Given the description of an element on the screen output the (x, y) to click on. 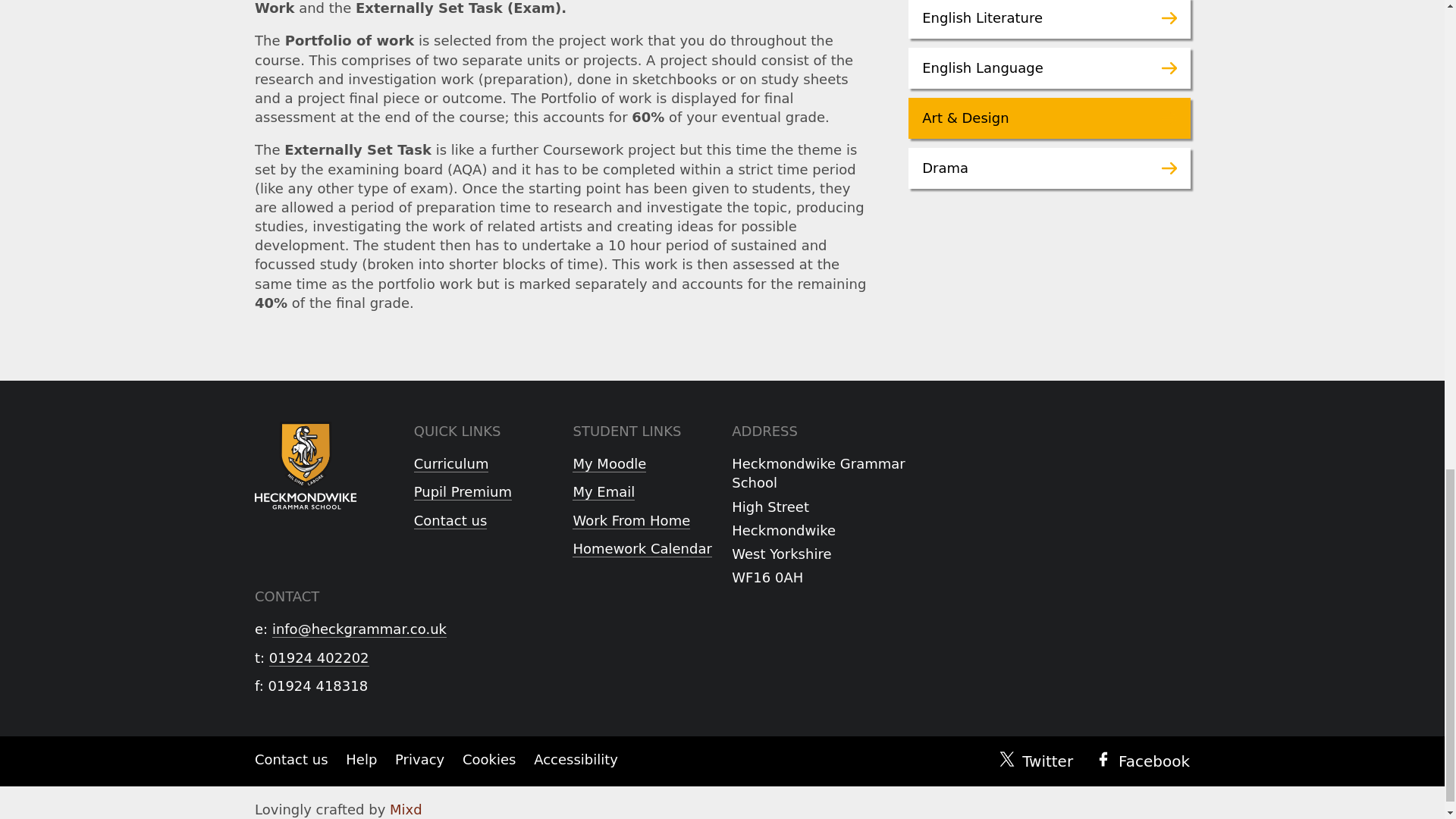
English Literature (1049, 19)
English Language (1049, 67)
